Given the description of an element on the screen output the (x, y) to click on. 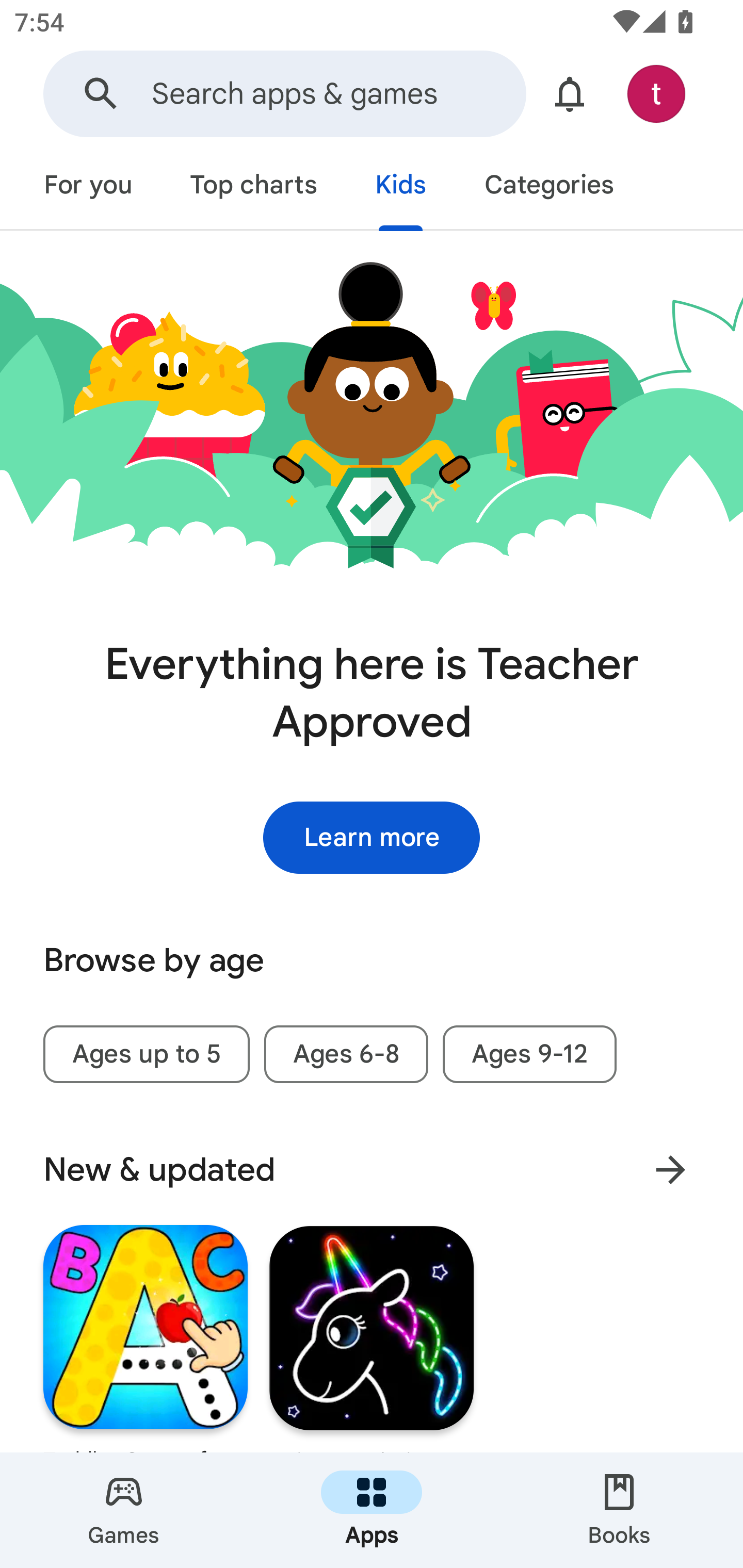
Search Google Play Search apps & games (284, 93)
Search Google Play (100, 93)
Show notifications and offers. (569, 93)
For you (87, 187)
Top charts (253, 187)
Categories (548, 187)
Ages up to 5 - tap the chip to check the content. (146, 1054)
Ages 6-8 - tap the chip to check the content. (345, 1054)
Ages 9-12 - tap the chip to check the content. (529, 1054)
New & updated More results for New & updated (371, 1169)
More results for New & updated (670, 1169)
Toddler Games for 2+ Year Olds
 (145, 1335)
Unicorn Coloring Girl Games
 (371, 1335)
Games (123, 1509)
Books (619, 1509)
